Given the description of an element on the screen output the (x, y) to click on. 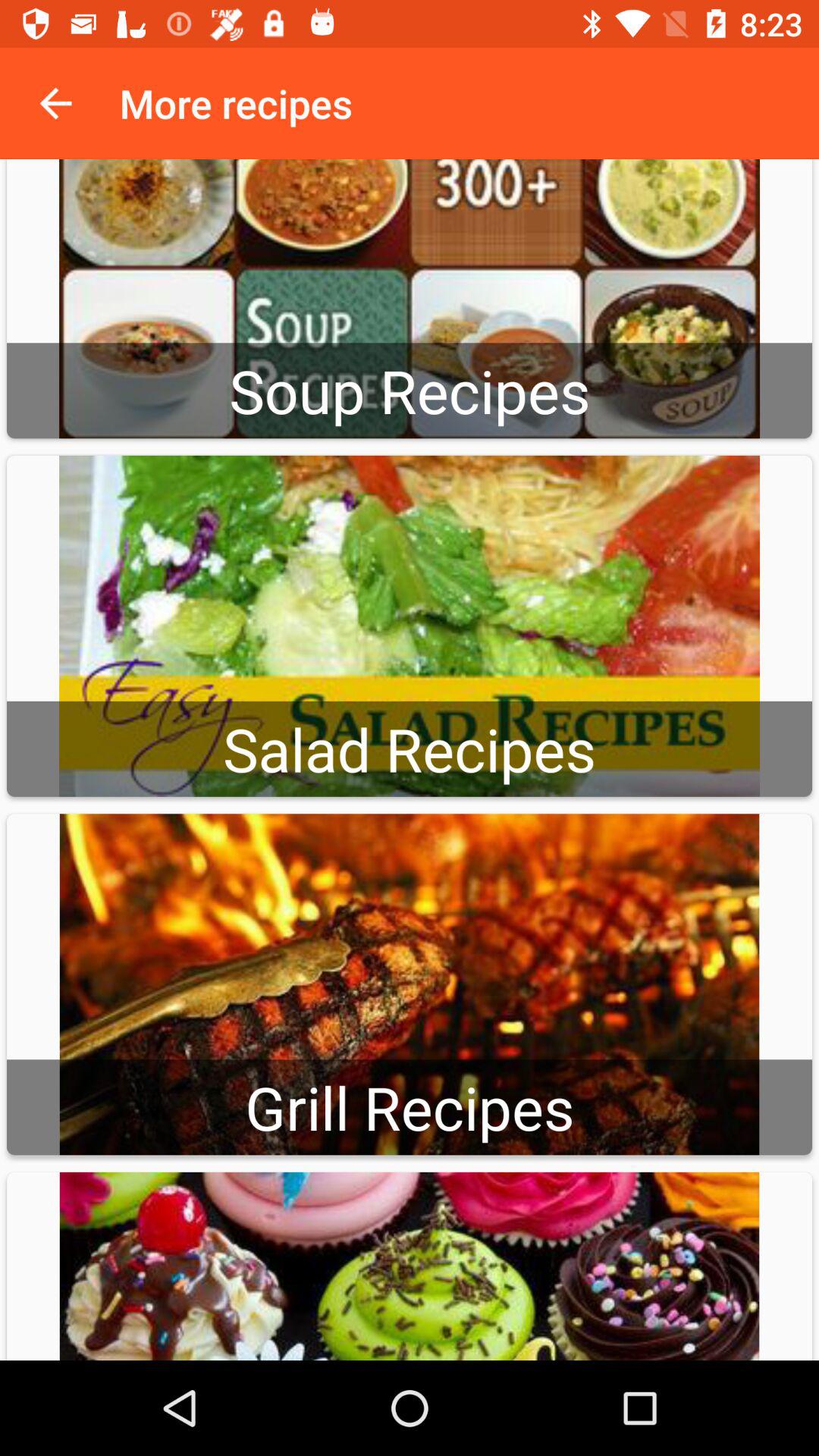
select the image below text grill recipes (409, 1265)
click on the image grill recipes (409, 983)
select salad recipes image (409, 625)
